Given the description of an element on the screen output the (x, y) to click on. 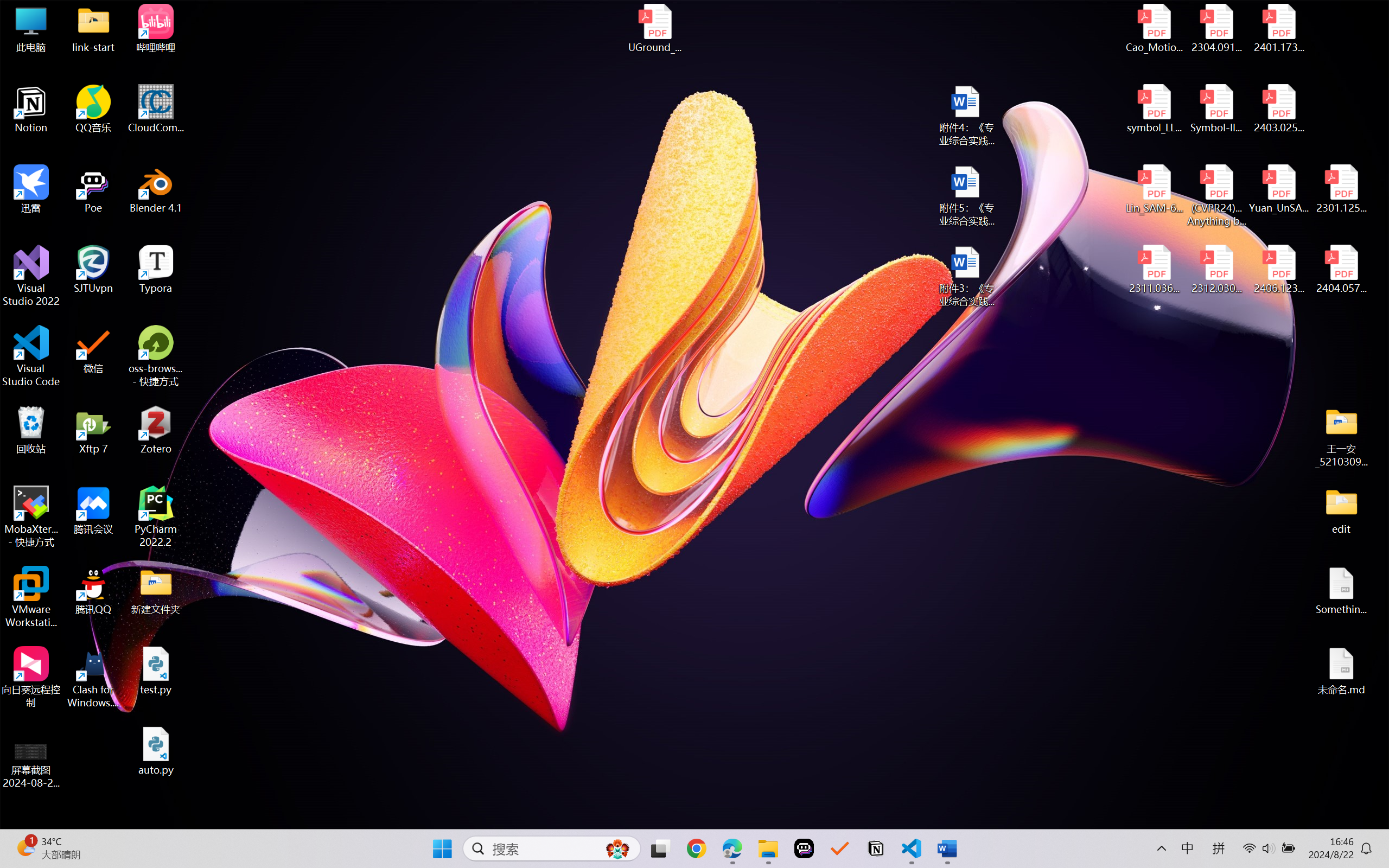
SJTUvpn (93, 269)
Google Chrome (696, 848)
Visual Studio Code (31, 355)
PyCharm 2022.2 (156, 516)
